Given the description of an element on the screen output the (x, y) to click on. 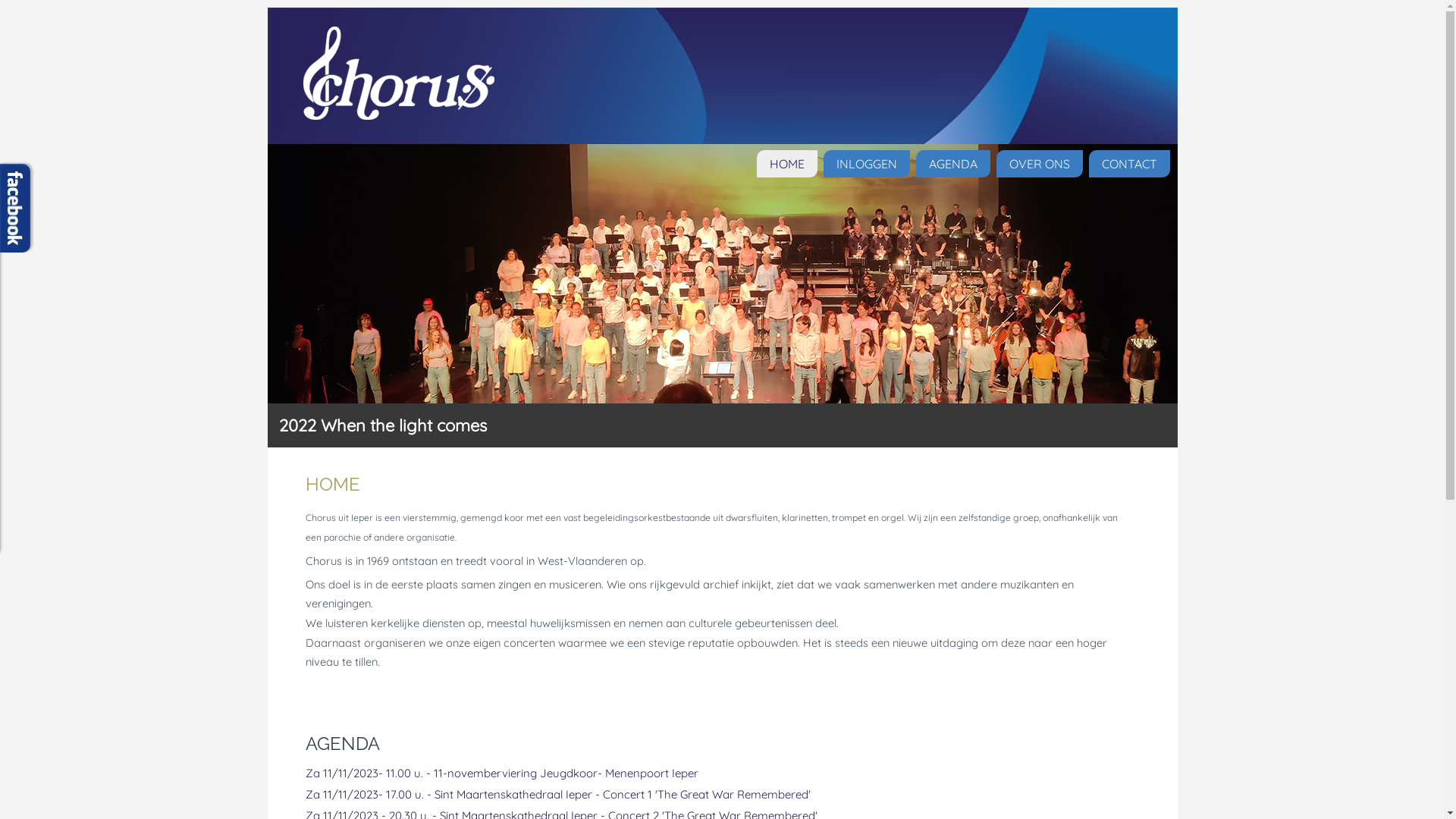
OVER ONS Element type: text (1039, 163)
INLOGGEN Element type: text (866, 163)
AGENDA Element type: text (953, 163)
HOME Element type: text (786, 163)
CONTACT Element type: text (1129, 163)
HOME Element type: text (331, 484)
